Given the description of an element on the screen output the (x, y) to click on. 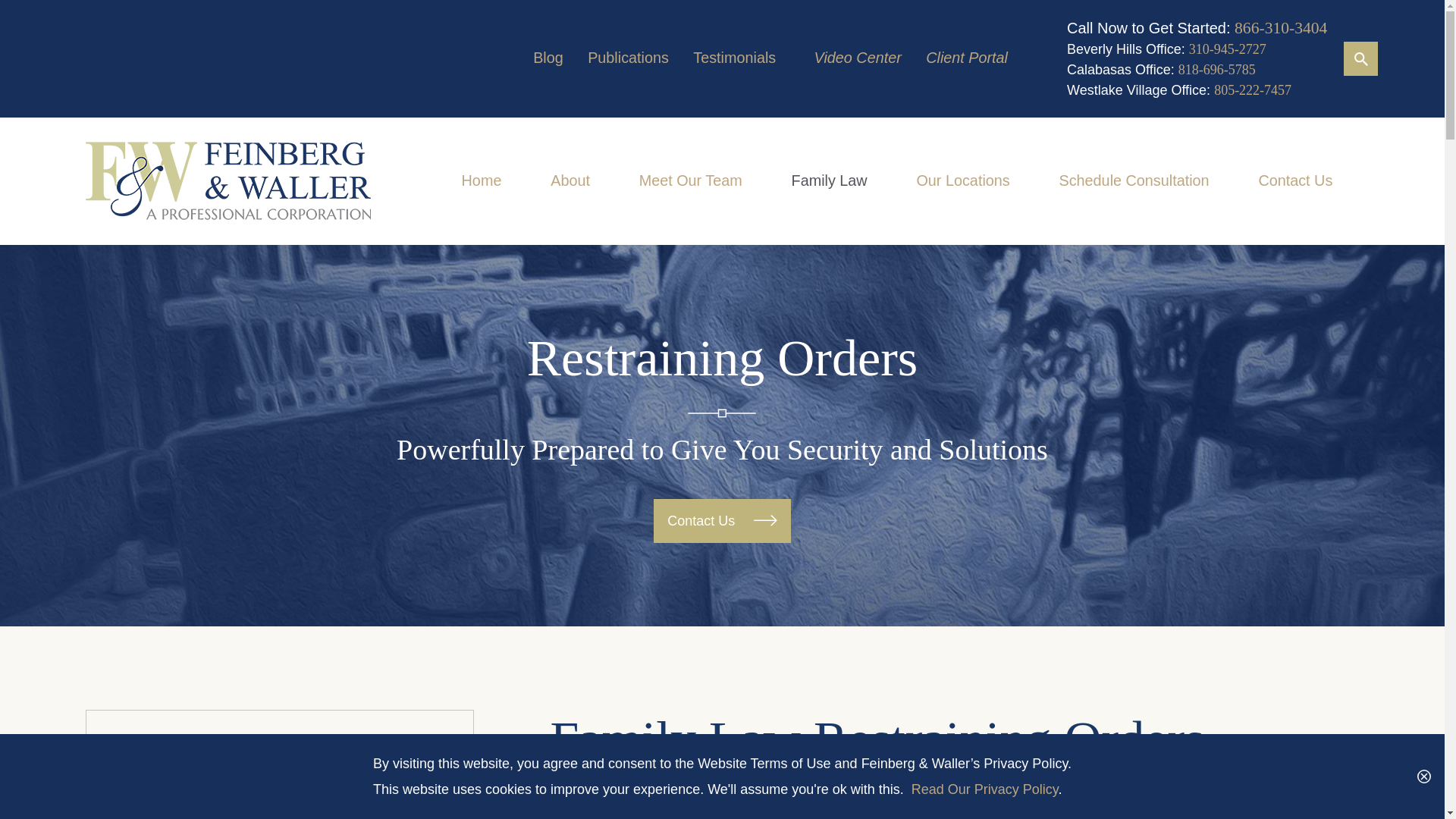
Blog (547, 57)
Open the accessibility options menu (1412, 786)
818-696-5785 (1216, 69)
Search Icon (1361, 58)
Testimonials (734, 57)
Video Center (857, 57)
866-310-3404 (1280, 27)
Meet Our Team (690, 181)
Client Portal (966, 57)
Family Law (829, 181)
